Given the description of an element on the screen output the (x, y) to click on. 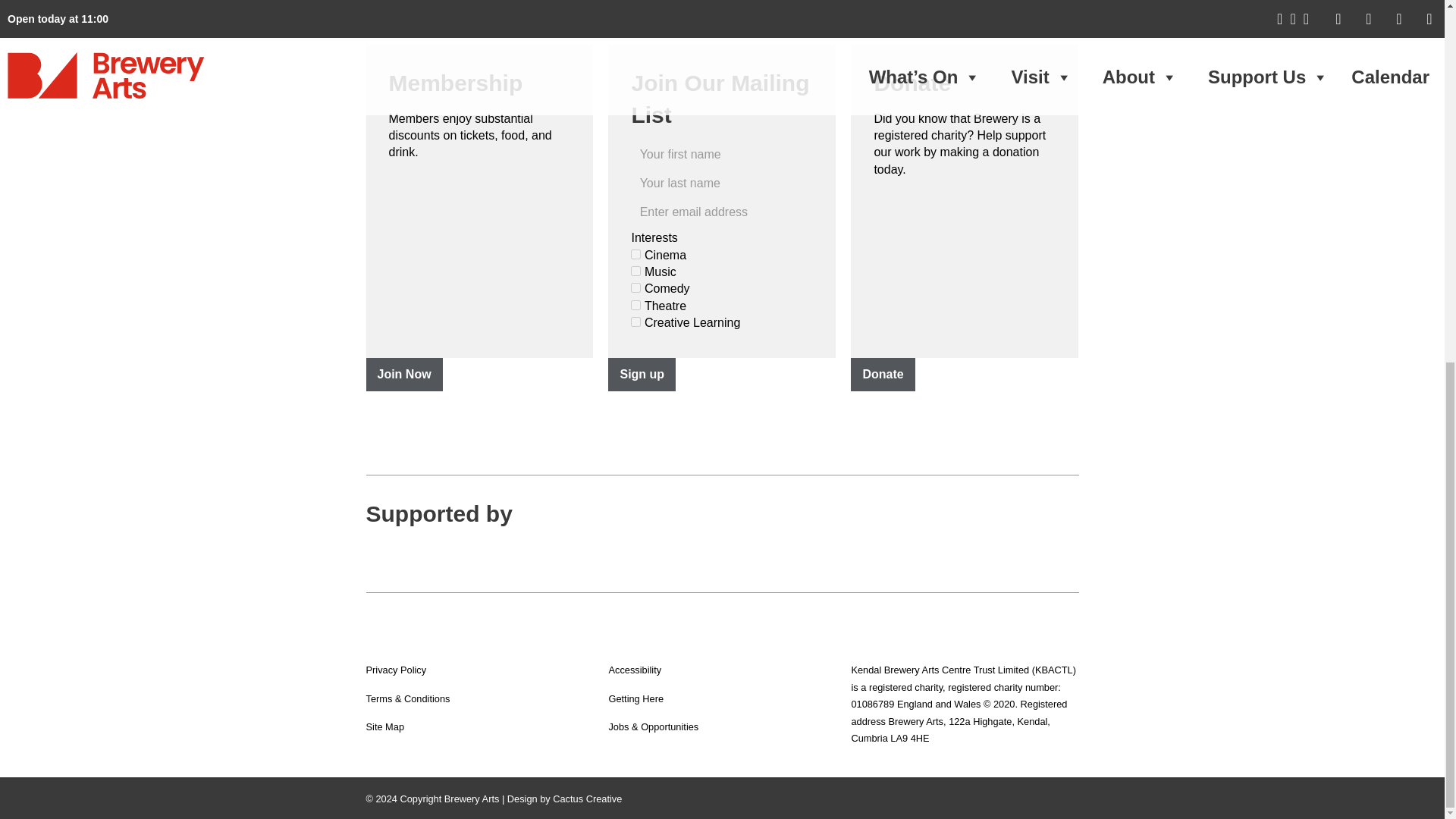
Theatre (635, 305)
Comedy (635, 287)
Music (635, 271)
Cinema (635, 254)
Creative Learning (635, 321)
